Given the description of an element on the screen output the (x, y) to click on. 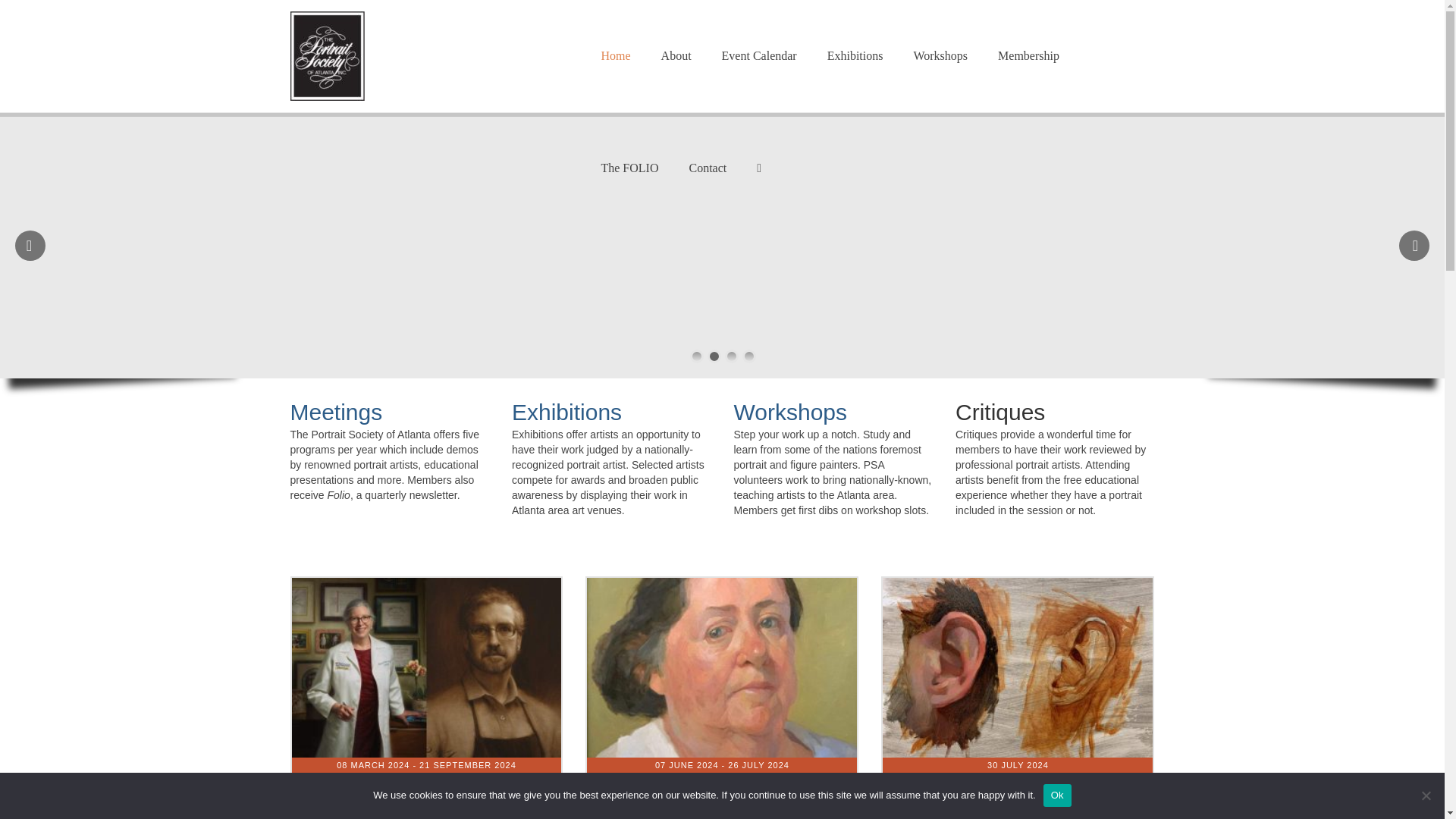
Event Calendar (759, 56)
Portrait Society of Atlanta (425, 56)
